Given the description of an element on the screen output the (x, y) to click on. 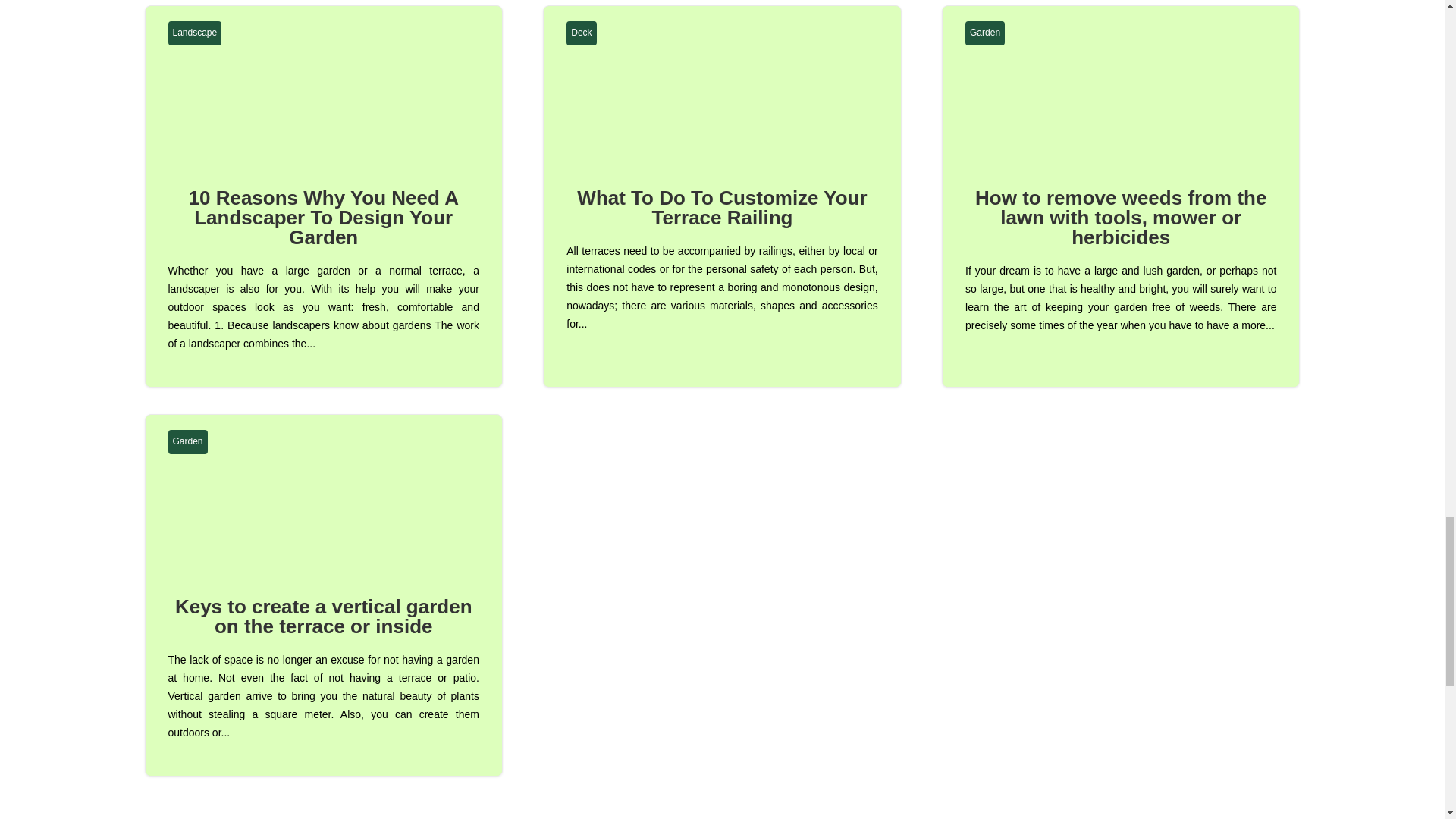
Garden (188, 441)
10 Reasons Why You Need A Landscaper To Design Your Garden (323, 217)
Landscape (195, 33)
Keys to create a vertical garden on the terrace or inside (322, 616)
Deck (580, 33)
What To Do To Customize Your Terrace Railing (721, 207)
Garden (984, 33)
